Given the description of an element on the screen output the (x, y) to click on. 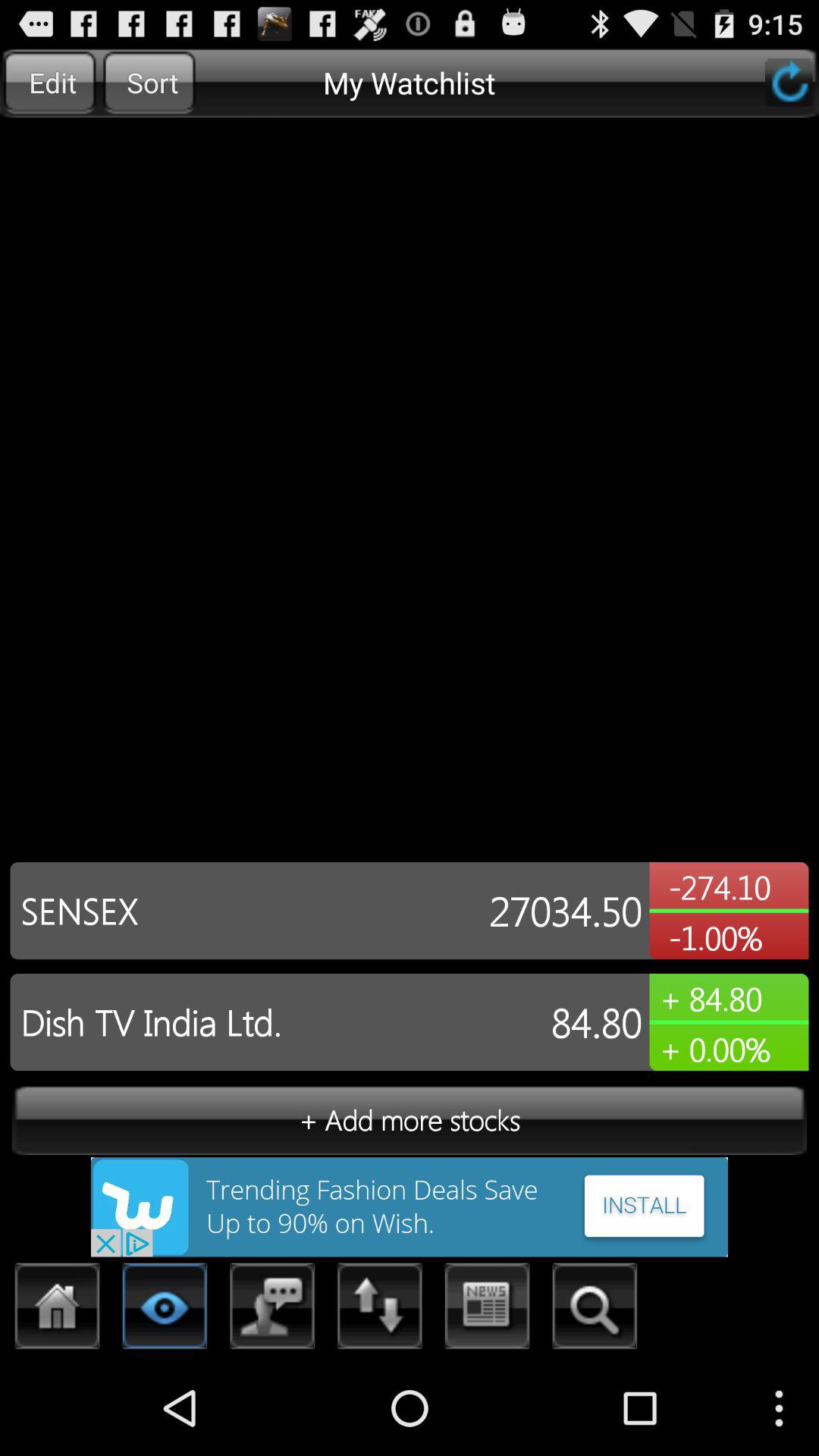
show button (164, 1310)
